Given the description of an element on the screen output the (x, y) to click on. 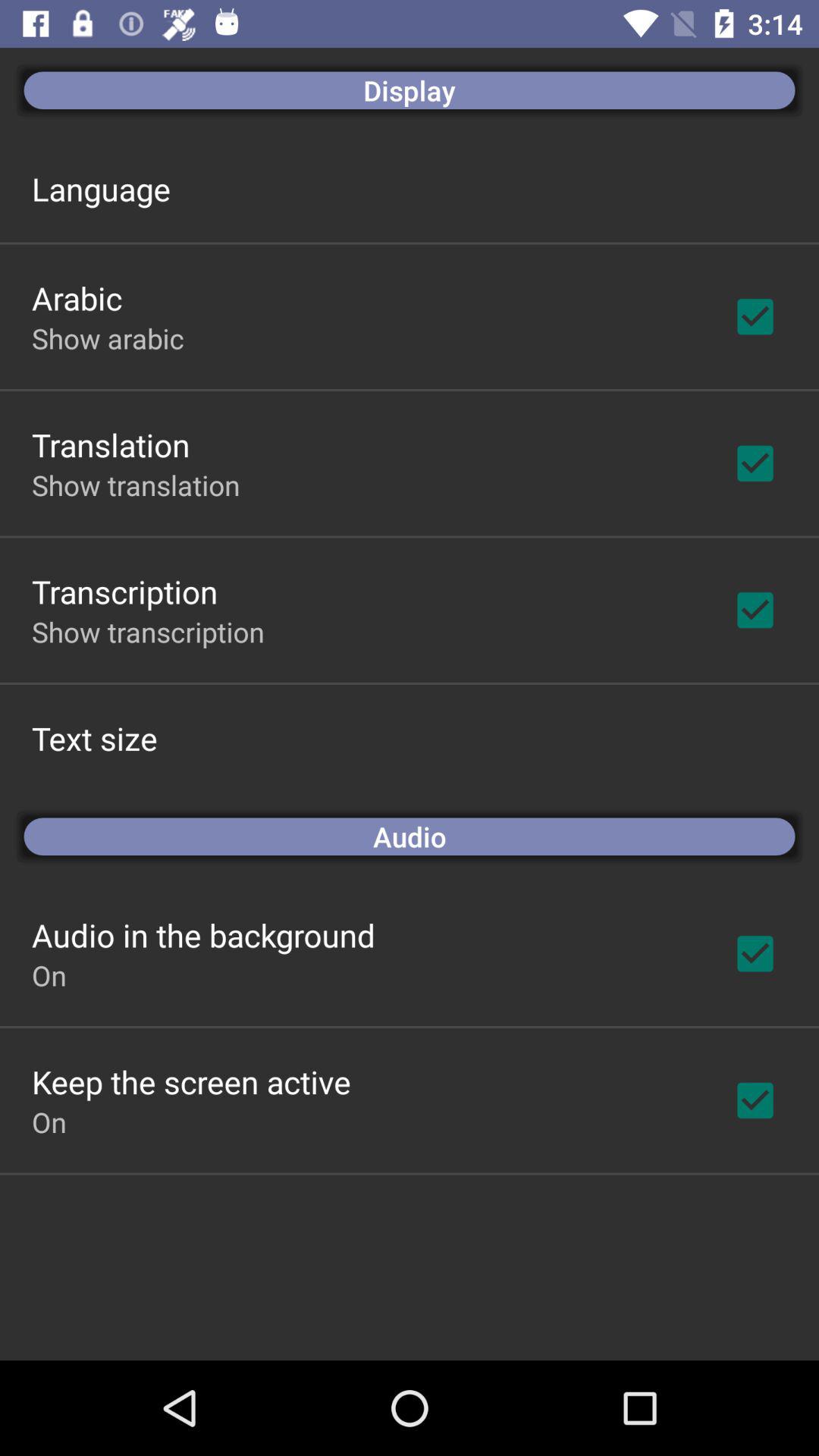
choose item below the display app (100, 188)
